Given the description of an element on the screen output the (x, y) to click on. 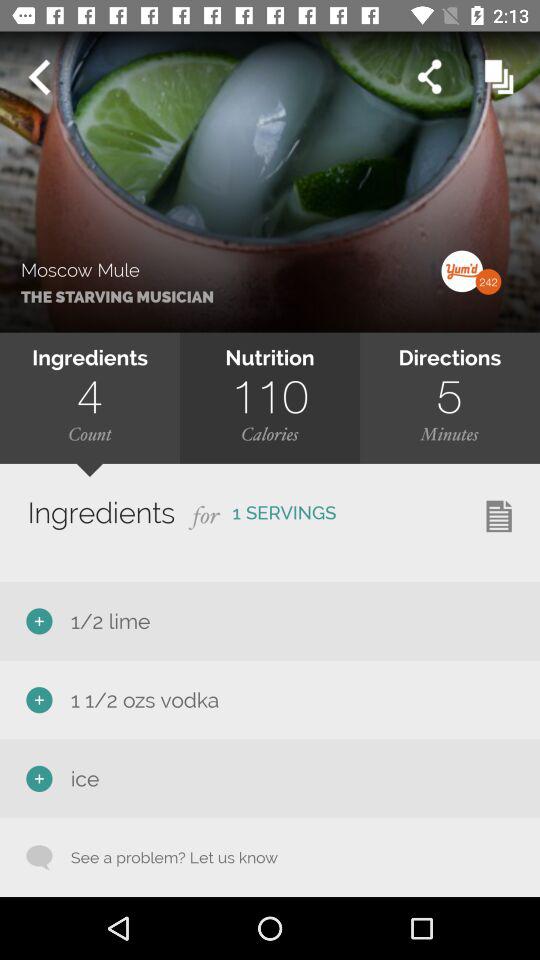
go back (39, 77)
